Given the description of an element on the screen output the (x, y) to click on. 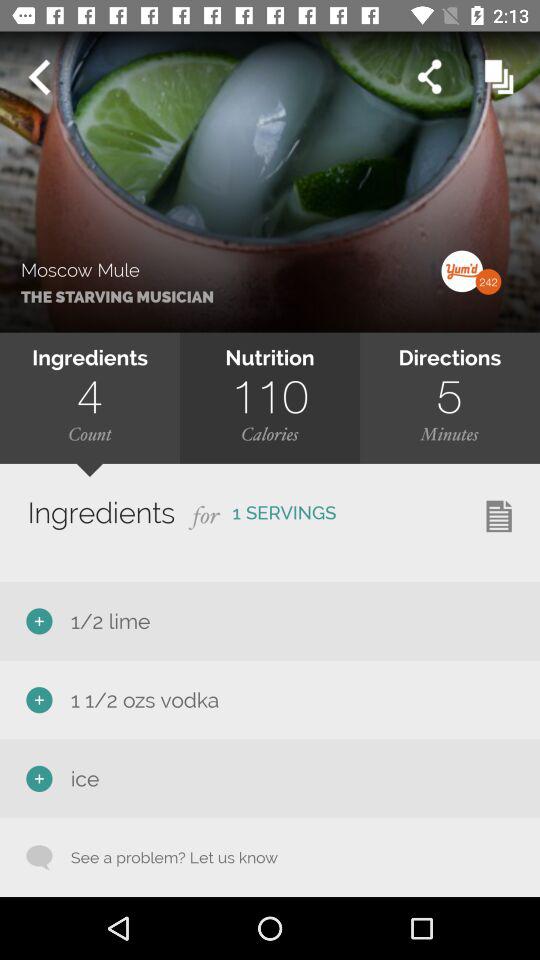
go back (39, 77)
